Given the description of an element on the screen output the (x, y) to click on. 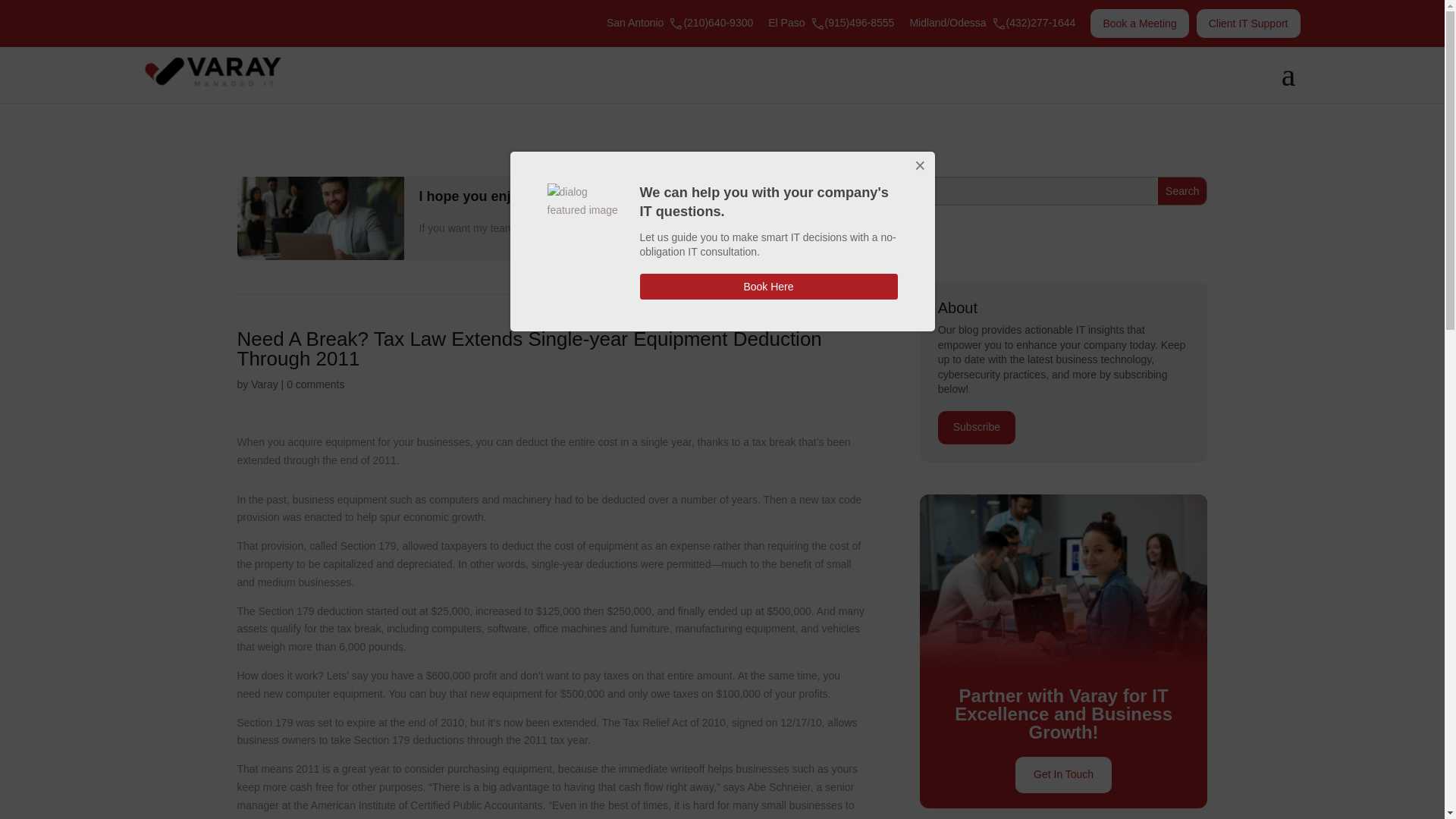
click here. (702, 227)
Search (1182, 190)
Posts by Varay (264, 384)
Client IT Support (1248, 23)
0 comments (314, 384)
Search (1182, 190)
Varay (264, 384)
Book a Meeting (1139, 23)
